Given the description of an element on the screen output the (x, y) to click on. 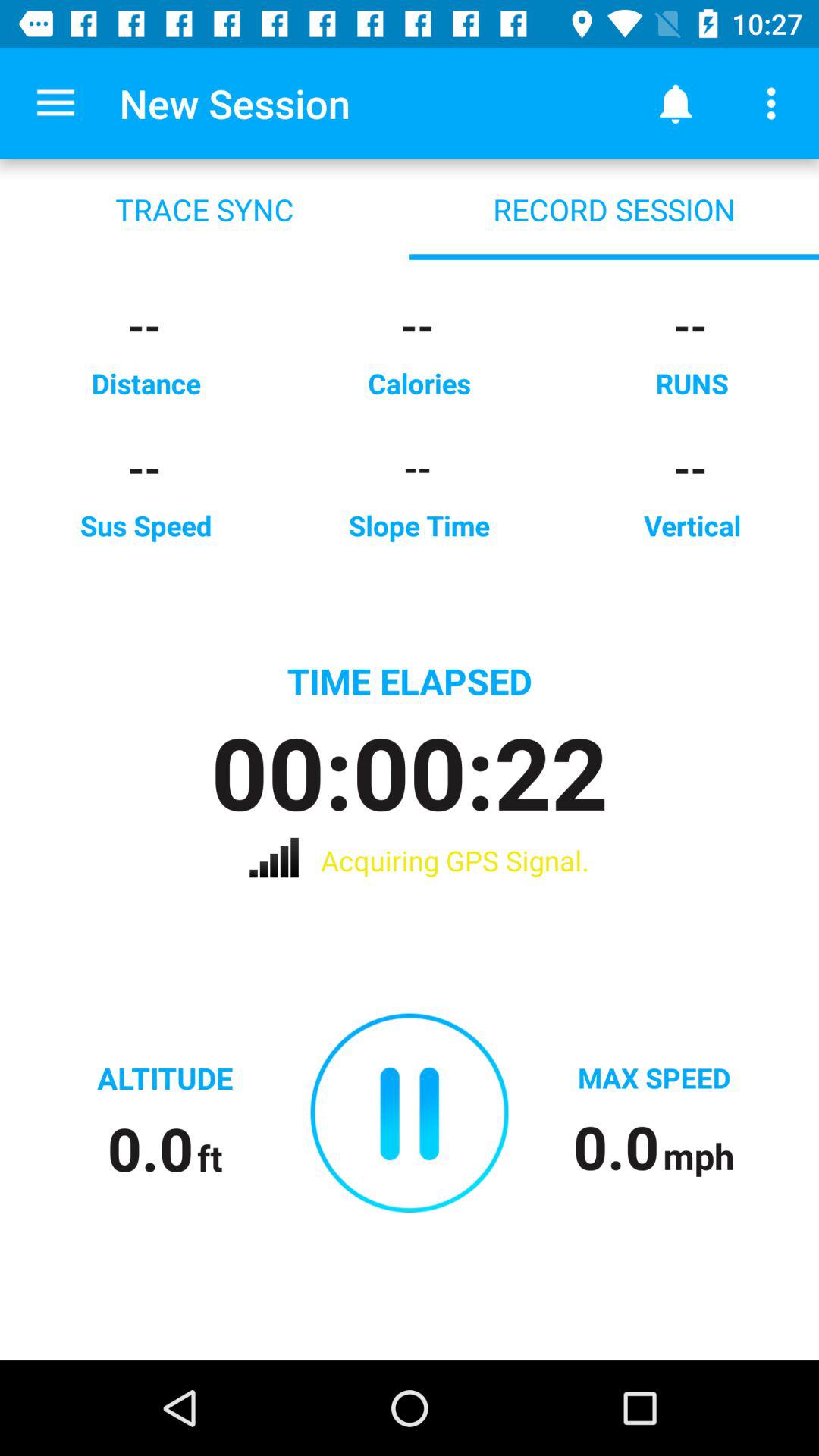
go to left of acquiring gps signal (294, 857)
